Given the description of an element on the screen output the (x, y) to click on. 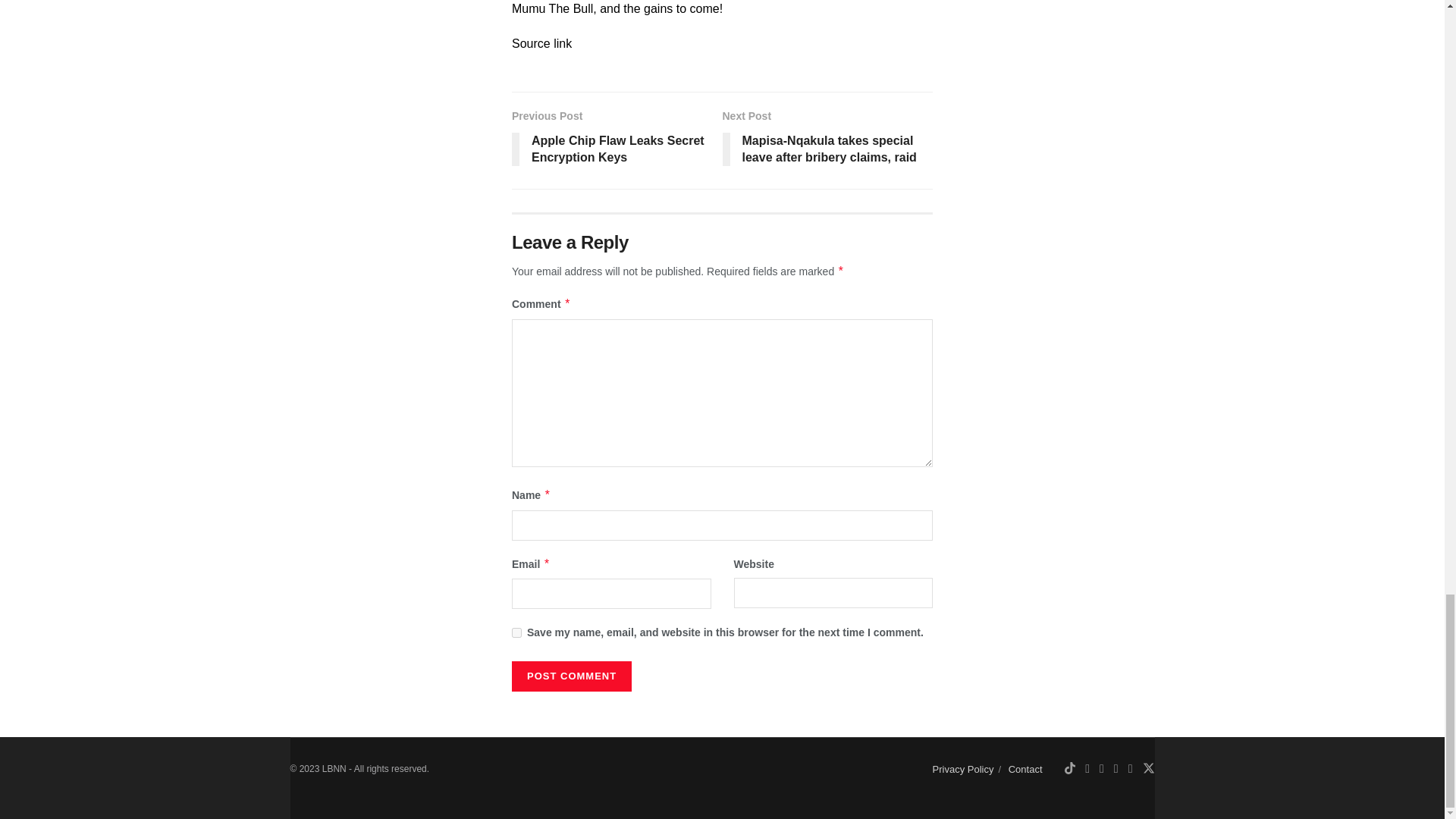
Post Comment (571, 675)
yes (516, 633)
